Given the description of an element on the screen output the (x, y) to click on. 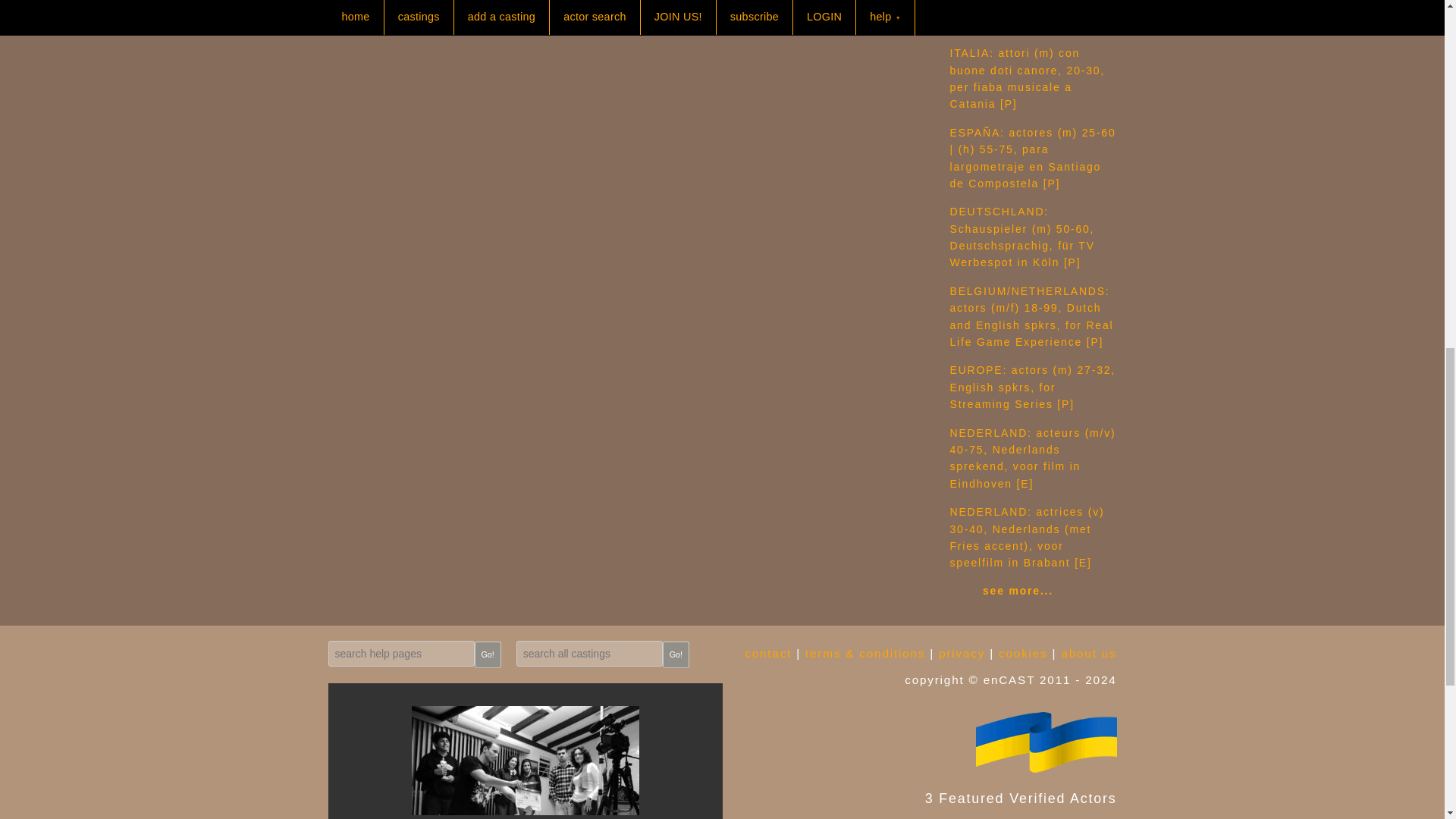
cookies (1022, 653)
Go! (487, 654)
privacy (962, 653)
about us (1088, 653)
see more... (1017, 590)
Go! (675, 654)
contact (768, 653)
3 Featured Verified Actors (919, 741)
